Given the description of an element on the screen output the (x, y) to click on. 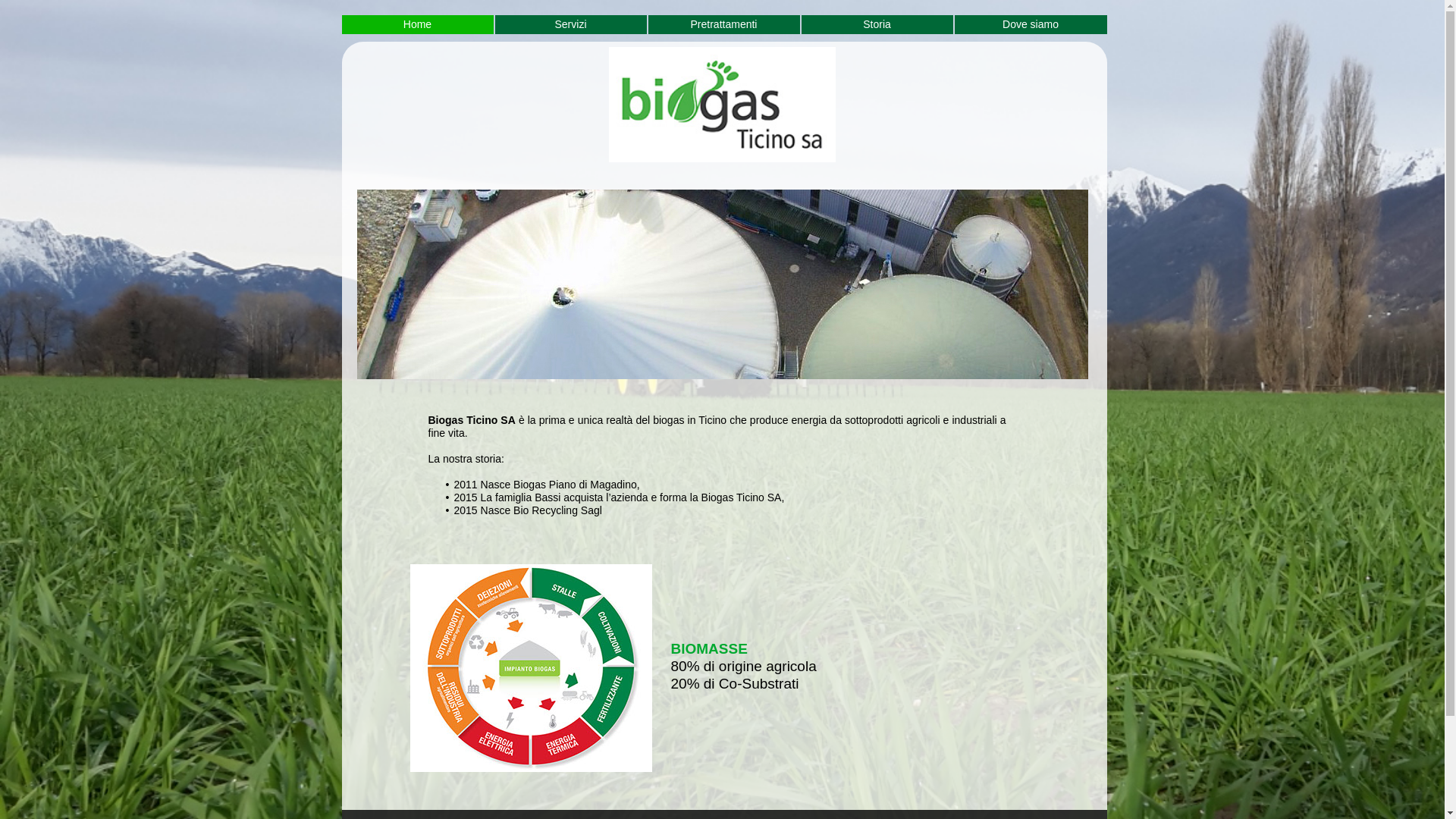
Servizi Element type: text (570, 24)
Dove siamo Element type: text (1029, 24)
Pretrattamenti Element type: text (723, 24)
Storia Element type: text (876, 24)
Home Element type: text (416, 24)
